Given the description of an element on the screen output the (x, y) to click on. 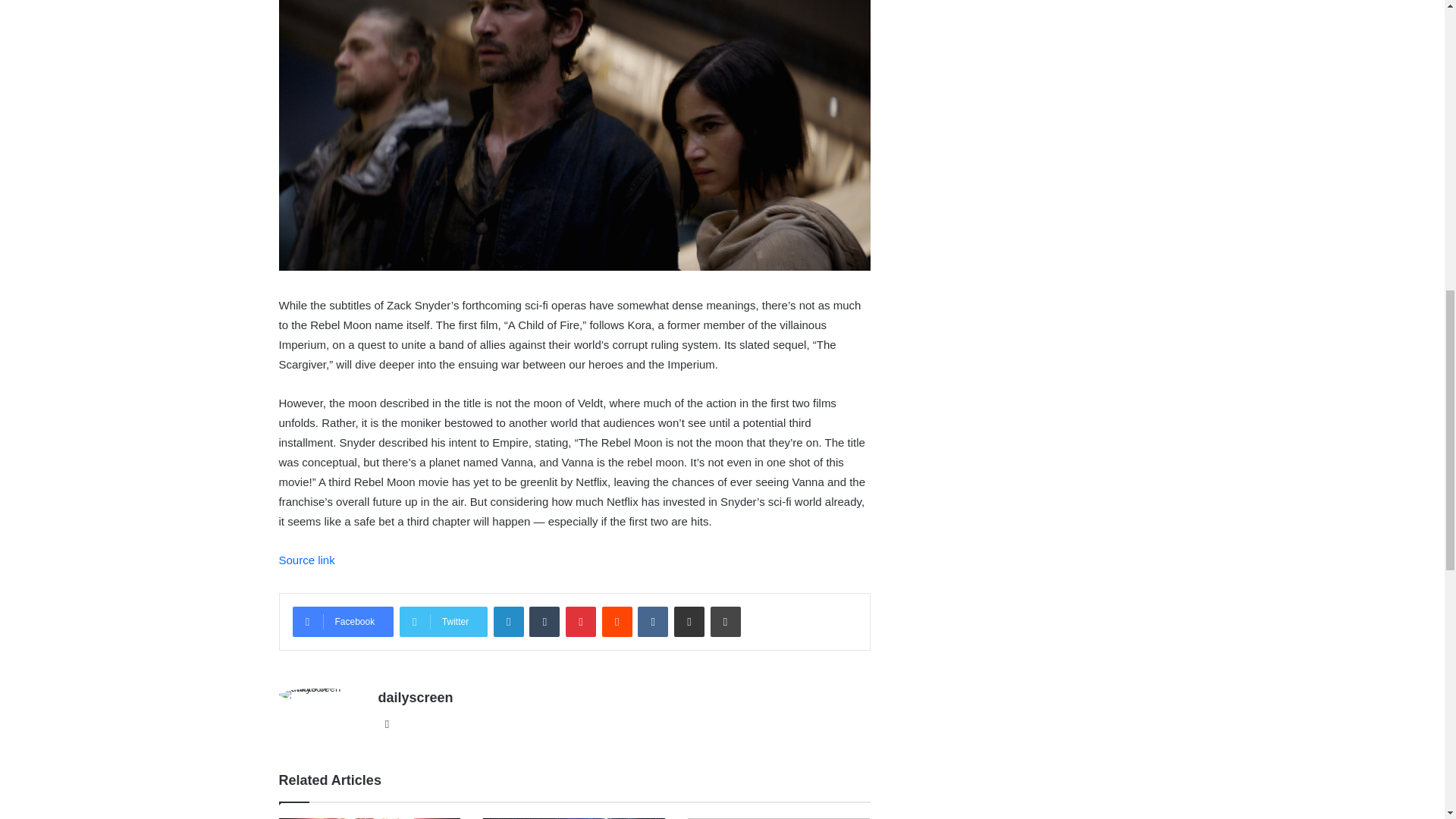
Twitter (442, 621)
Tumblr (544, 621)
Print (725, 621)
Pinterest (580, 621)
Facebook (343, 621)
Reddit (616, 621)
Twitter (442, 621)
VKontakte (652, 621)
Source link (306, 559)
Share via Email (689, 621)
